Given the description of an element on the screen output the (x, y) to click on. 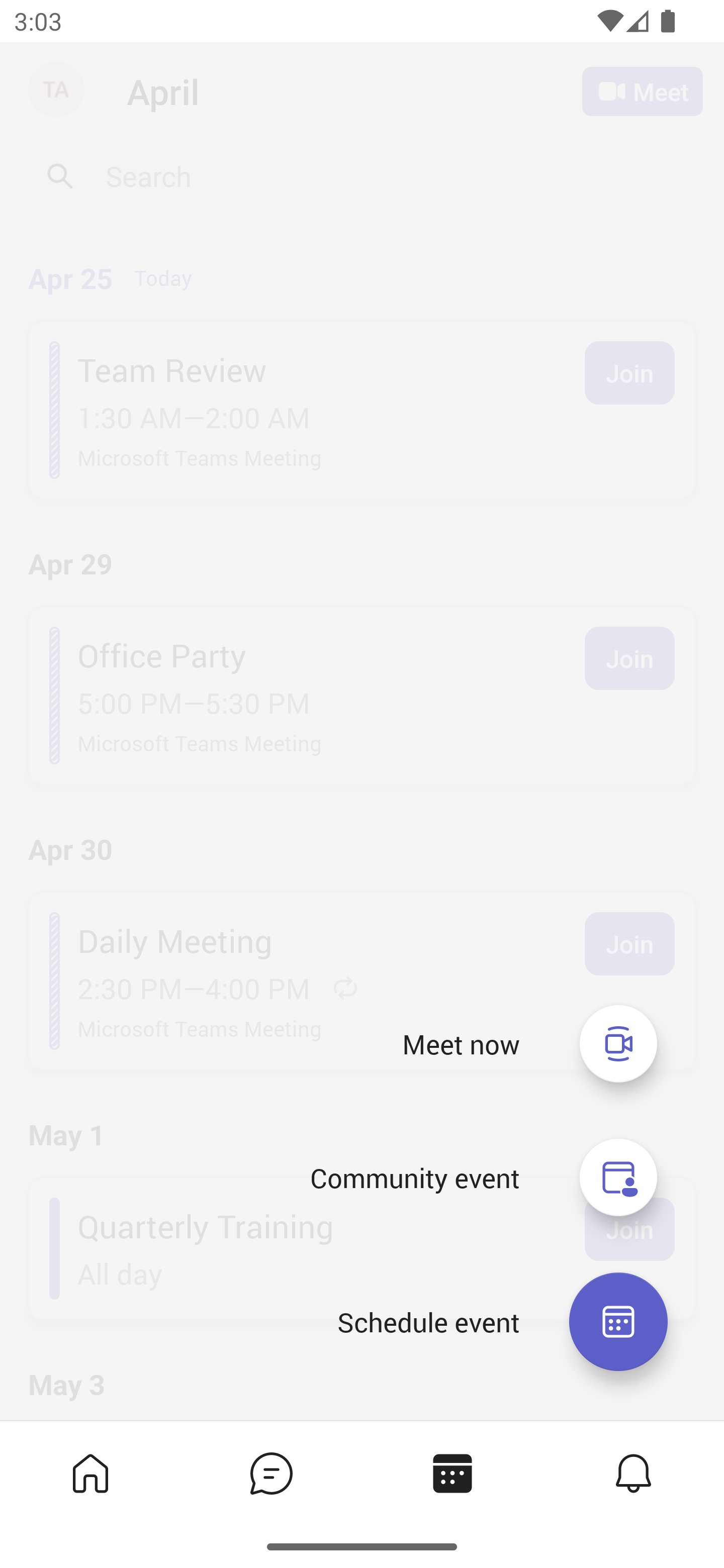
Meet now (618, 1043)
Meet now (461, 1044)
Community event (618, 1177)
Community event (414, 1177)
Schedule event (618, 1321)
Schedule event (428, 1321)
Home tab,1 of 4, not selected (90, 1472)
Chat tab,2 of 4, not selected (271, 1472)
Calendar tab, 3 of 4 (452, 1472)
Activity tab,4 of 4, not selected (633, 1472)
